Given the description of an element on the screen output the (x, y) to click on. 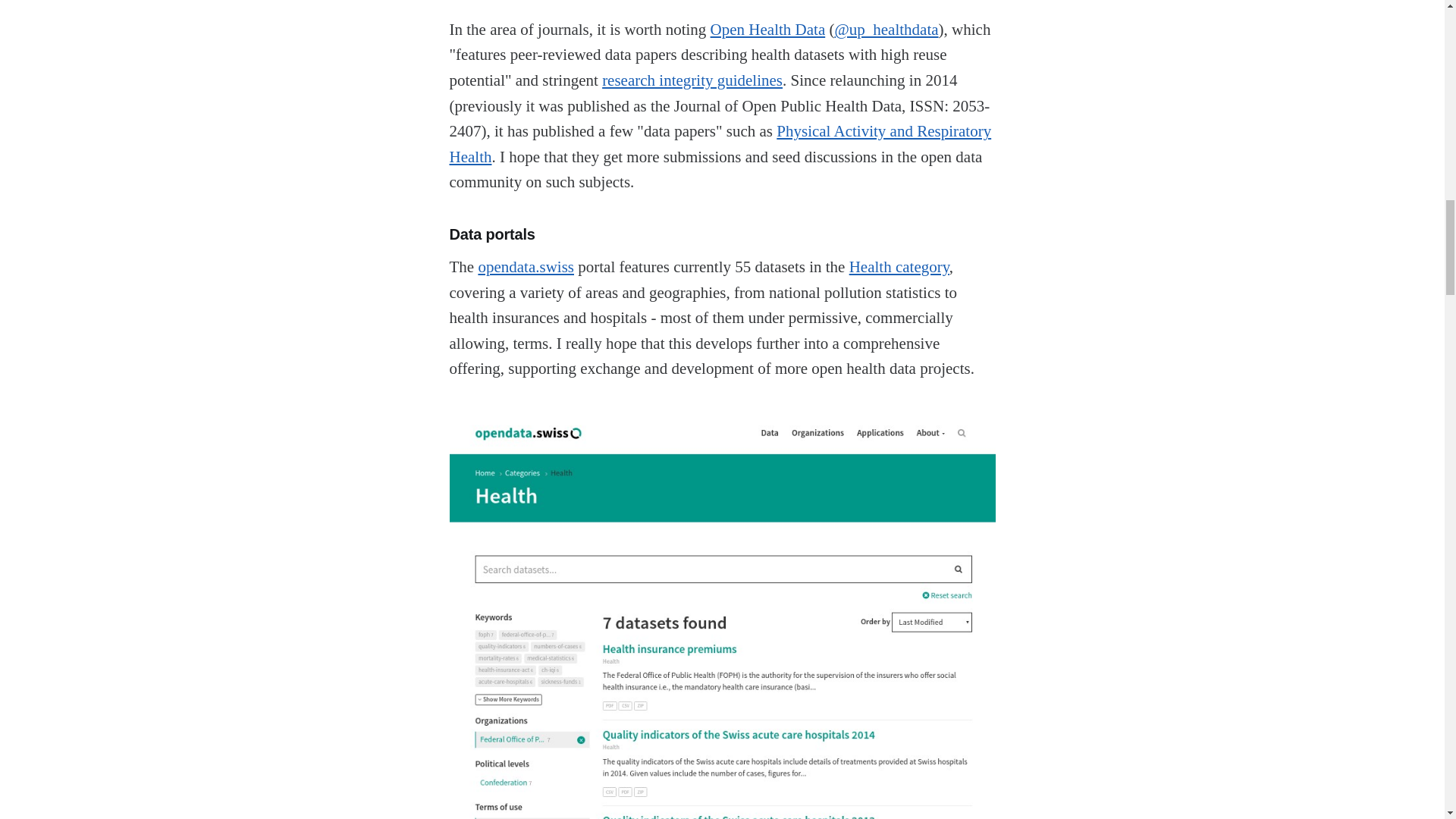
Physical Activity and Respiratory Health (719, 144)
research integrity guidelines (692, 80)
Open Health Data (767, 29)
opendata.swiss (525, 266)
